Given the description of an element on the screen output the (x, y) to click on. 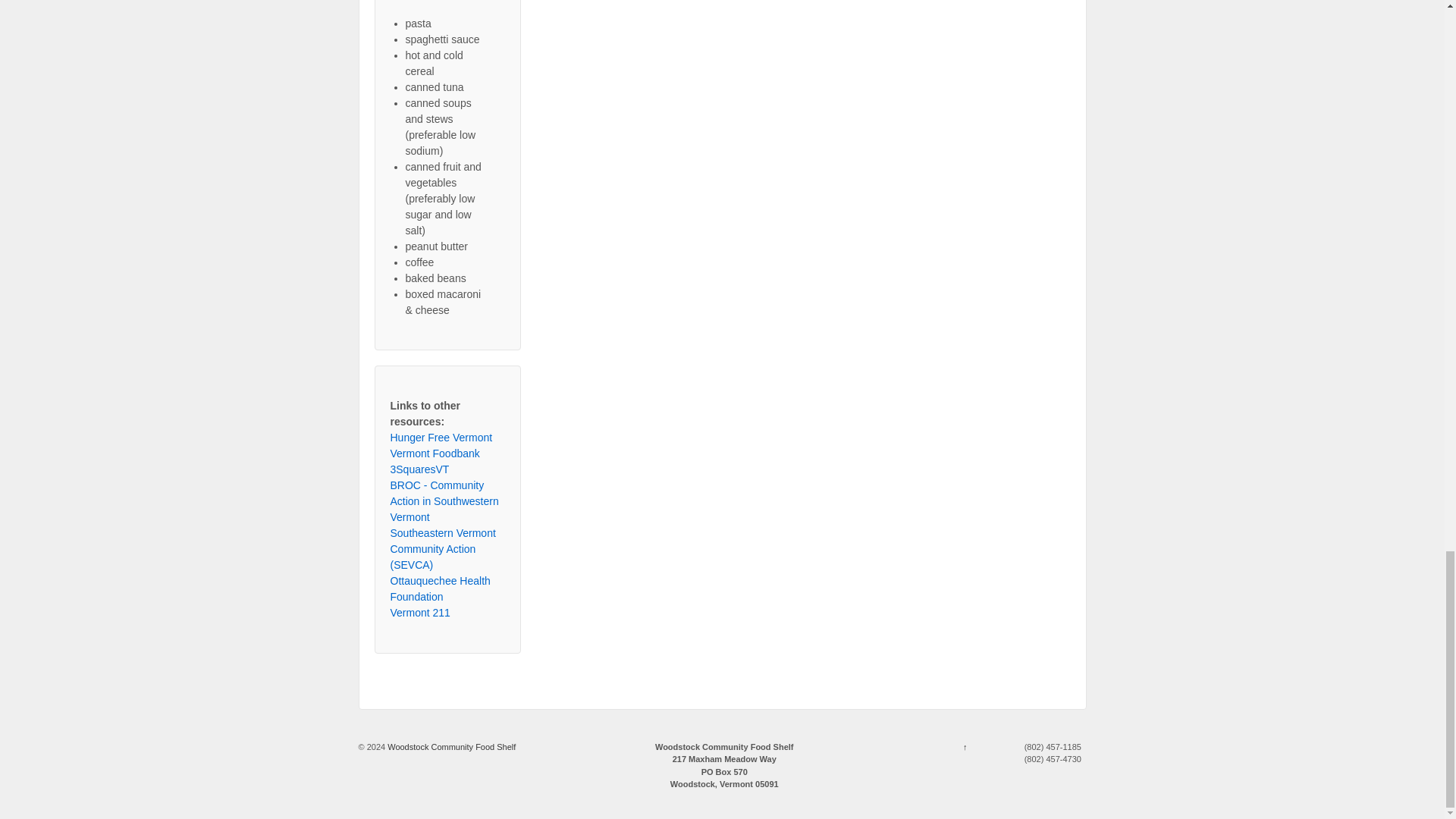
Vermont 211 (419, 612)
3SquaresVT (419, 469)
Vermont Foodbank (434, 453)
3SquaresVT (419, 469)
Vermont 211 (419, 612)
Woodstock Community Food Shelf (450, 746)
Ottauquechee Health Foundation (439, 588)
BROC - Community Action in Southwestern Vermont (443, 501)
Hunger Free Vermont (441, 437)
Vermont Foodbank (434, 453)
Woodstock Community Food Shelf (450, 746)
Hunger Free Vermont (441, 437)
